Given the description of an element on the screen output the (x, y) to click on. 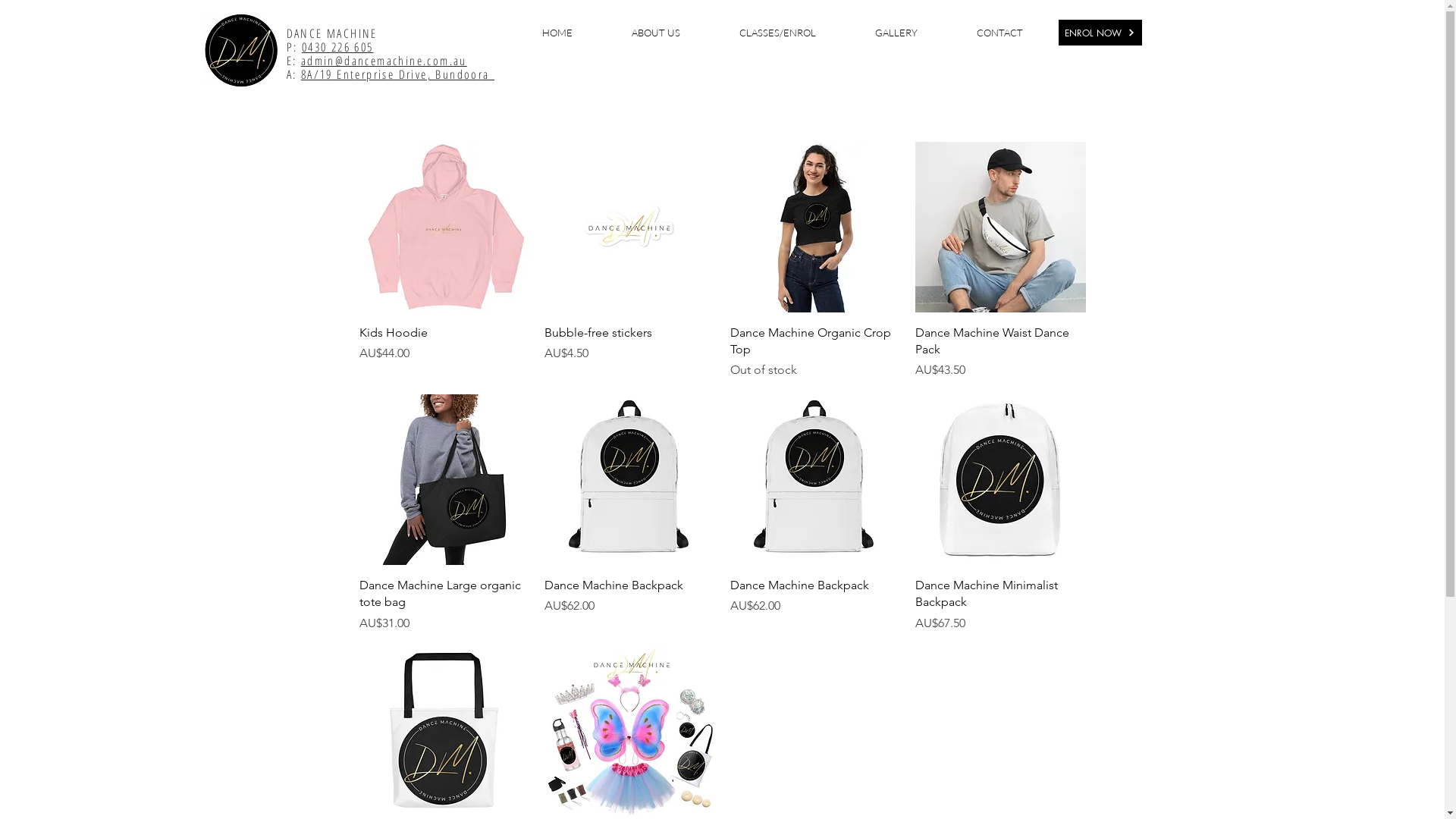
ABOUT US Element type: text (655, 32)
Dance Machine Organic Crop Top
Out of stock Element type: text (814, 351)
Dance Machine Backpack
Price
AU$62.00 Element type: text (814, 604)
Dance Machine Backpack
Price
AU$62.00 Element type: text (629, 604)
admin@dancemachine.com.au Element type: text (384, 60)
Bubble-free stickers
Price
AU$4.50 Element type: text (629, 351)
CONTACT Element type: text (999, 32)
GALLERY Element type: text (896, 32)
8A/19 Enterprise Drive, Bundoora  Element type: text (397, 73)
Dance Machine Minimalist Backpack
Price
AU$67.50 Element type: text (1000, 604)
HOME Element type: text (556, 32)
0430 226 605 Element type: text (337, 46)
ENROL NOW Element type: text (1100, 32)
Dance Machine Waist Dance Pack
Price
AU$43.50 Element type: text (1000, 351)
Kids Hoodie
Price
AU$44.00 Element type: text (444, 351)
Dance Machine Large organic tote bag
Price
AU$31.00 Element type: text (444, 604)
CLASSES/ENROL Element type: text (776, 32)
